Given the description of an element on the screen output the (x, y) to click on. 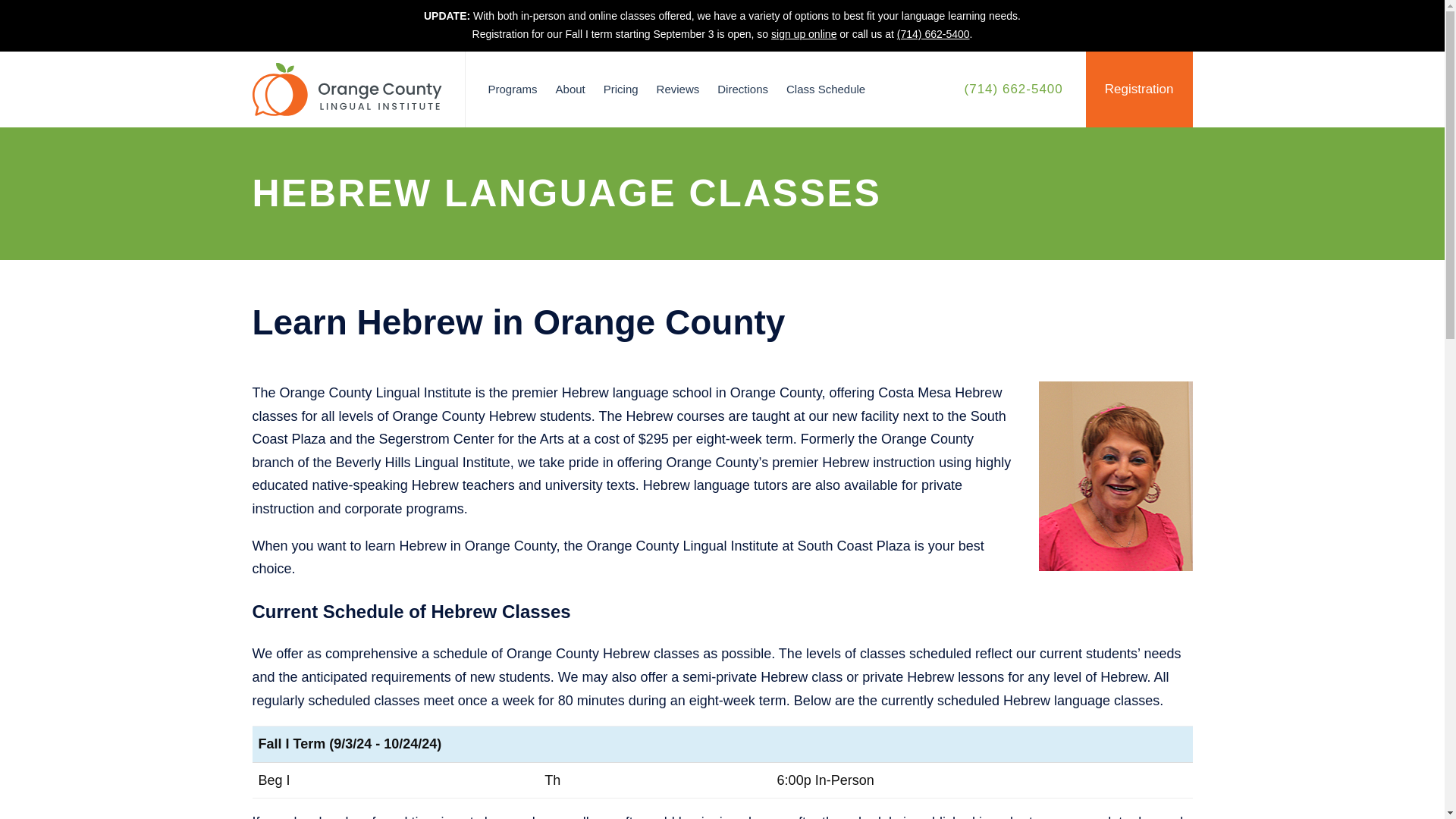
Programs (513, 89)
Registration (1139, 89)
sign up online (803, 33)
Directions (742, 89)
Class Schedule (826, 89)
